Given the description of an element on the screen output the (x, y) to click on. 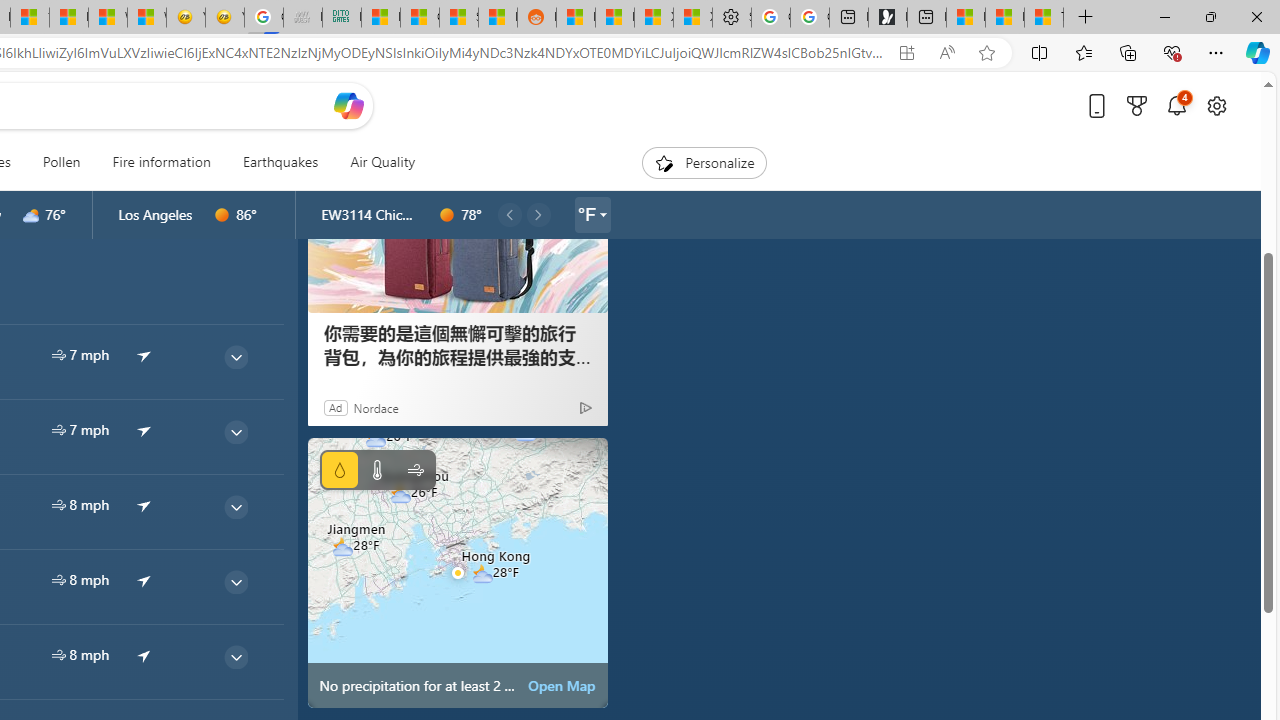
App available. Install Microsoft Start Weather (906, 53)
common/thinArrow (235, 656)
Precipitation (339, 470)
common/arrow (144, 655)
Air Quality (375, 162)
Pollen (61, 162)
These 3 Stocks Pay You More Than 5% to Own Them (1044, 17)
No precipitation for at least 2 hours (457, 572)
Air Quality (382, 162)
